Given the description of an element on the screen output the (x, y) to click on. 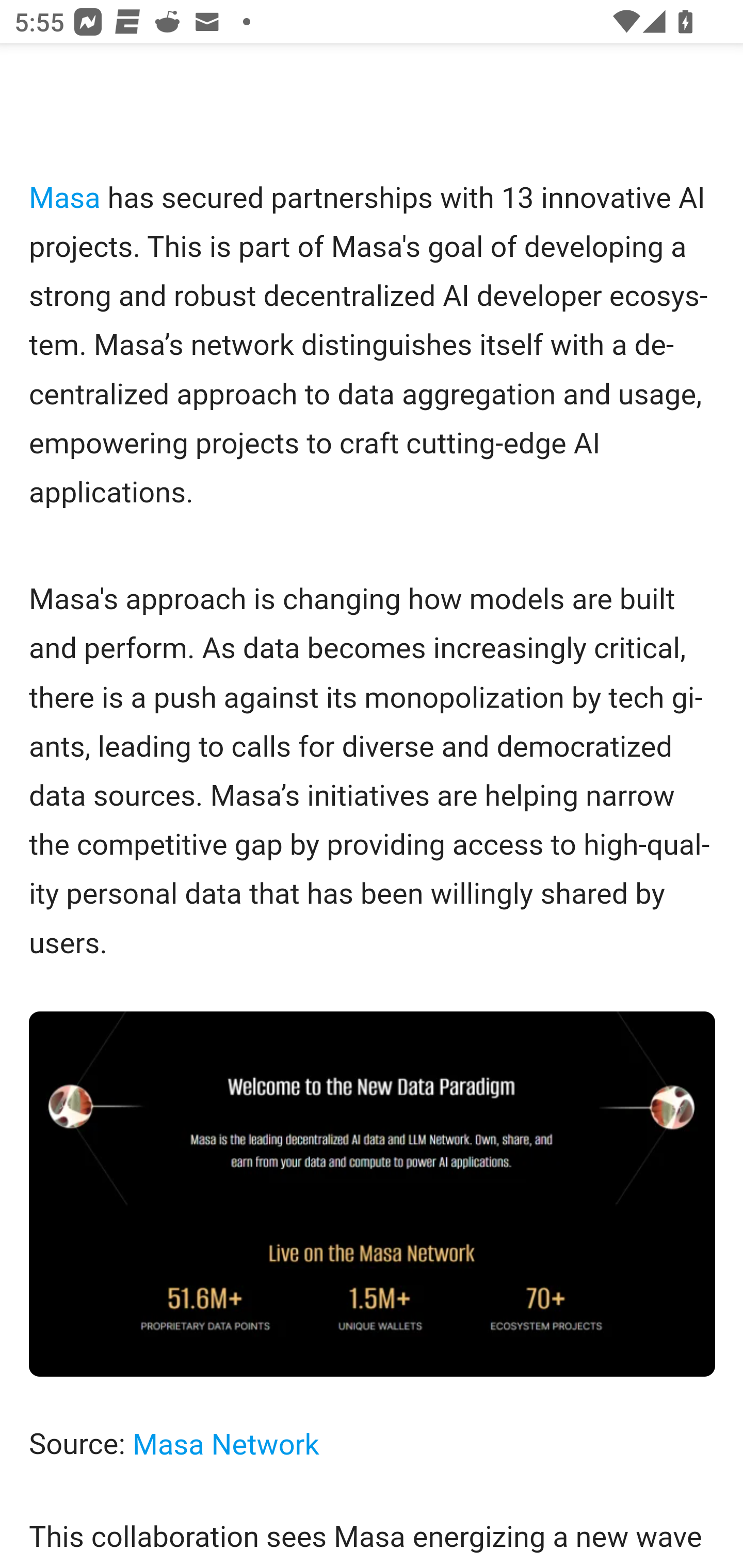
Masa (64, 198)
Masa Network (225, 1445)
